Given the description of an element on the screen output the (x, y) to click on. 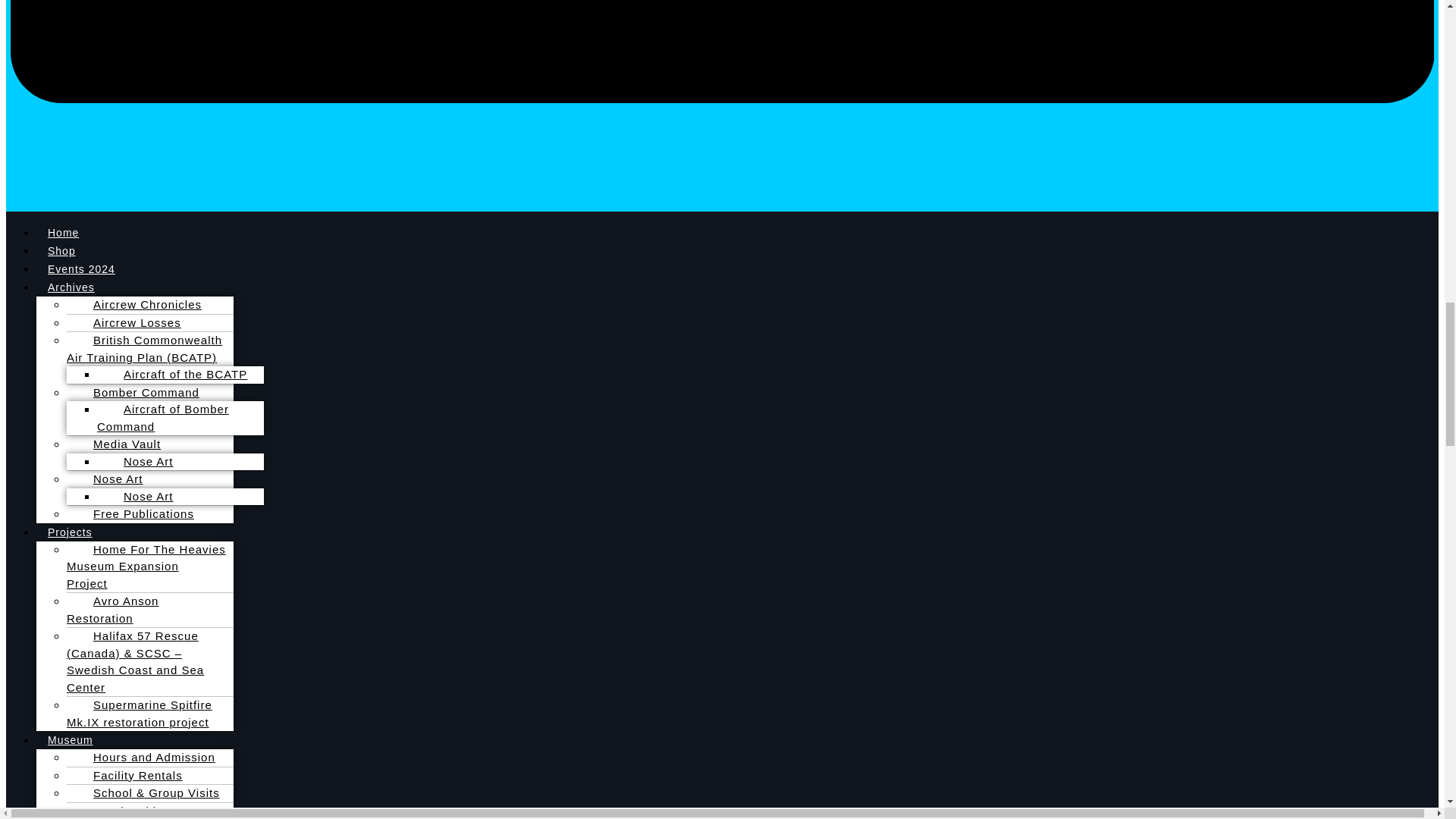
Shop (61, 250)
Free Publications (135, 513)
Aircraft of Bomber Command (162, 417)
Museum (70, 740)
Nose Art (140, 461)
Aircrew Losses (129, 322)
Media Vault (118, 443)
Bomber Command (138, 392)
Nose Art (140, 496)
Hours and Admission (146, 756)
